Given the description of an element on the screen output the (x, y) to click on. 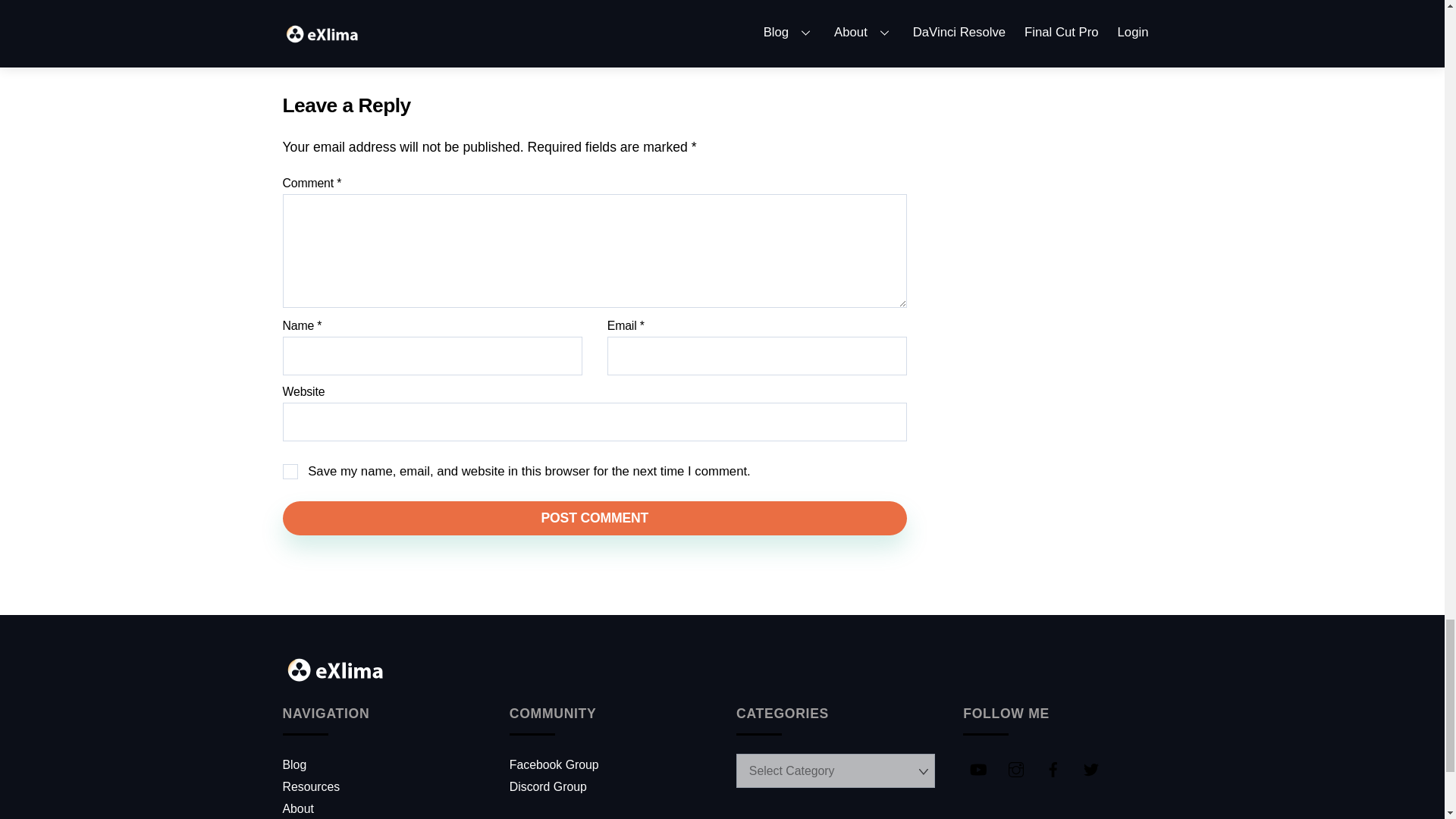
eXlima (336, 679)
Post Comment (594, 518)
How To Use SPLIT SCREEN Playheads in DaVinci Resolve iPad! (380, 14)
yes (289, 471)
